Given the description of an element on the screen output the (x, y) to click on. 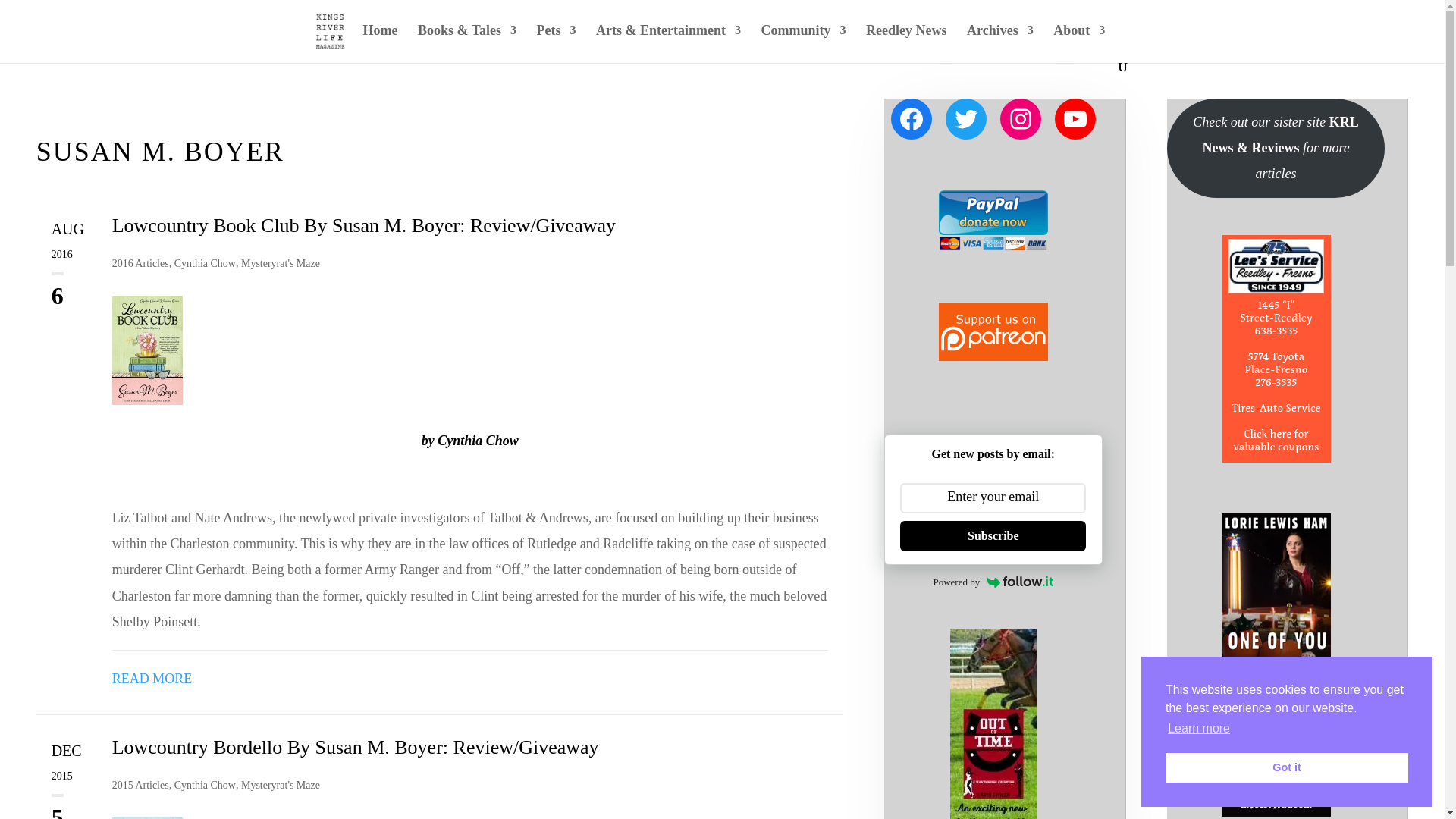
Community (802, 42)
Home (379, 42)
Pets (556, 42)
Archives (999, 42)
Reedley News (906, 42)
